Given the description of an element on the screen output the (x, y) to click on. 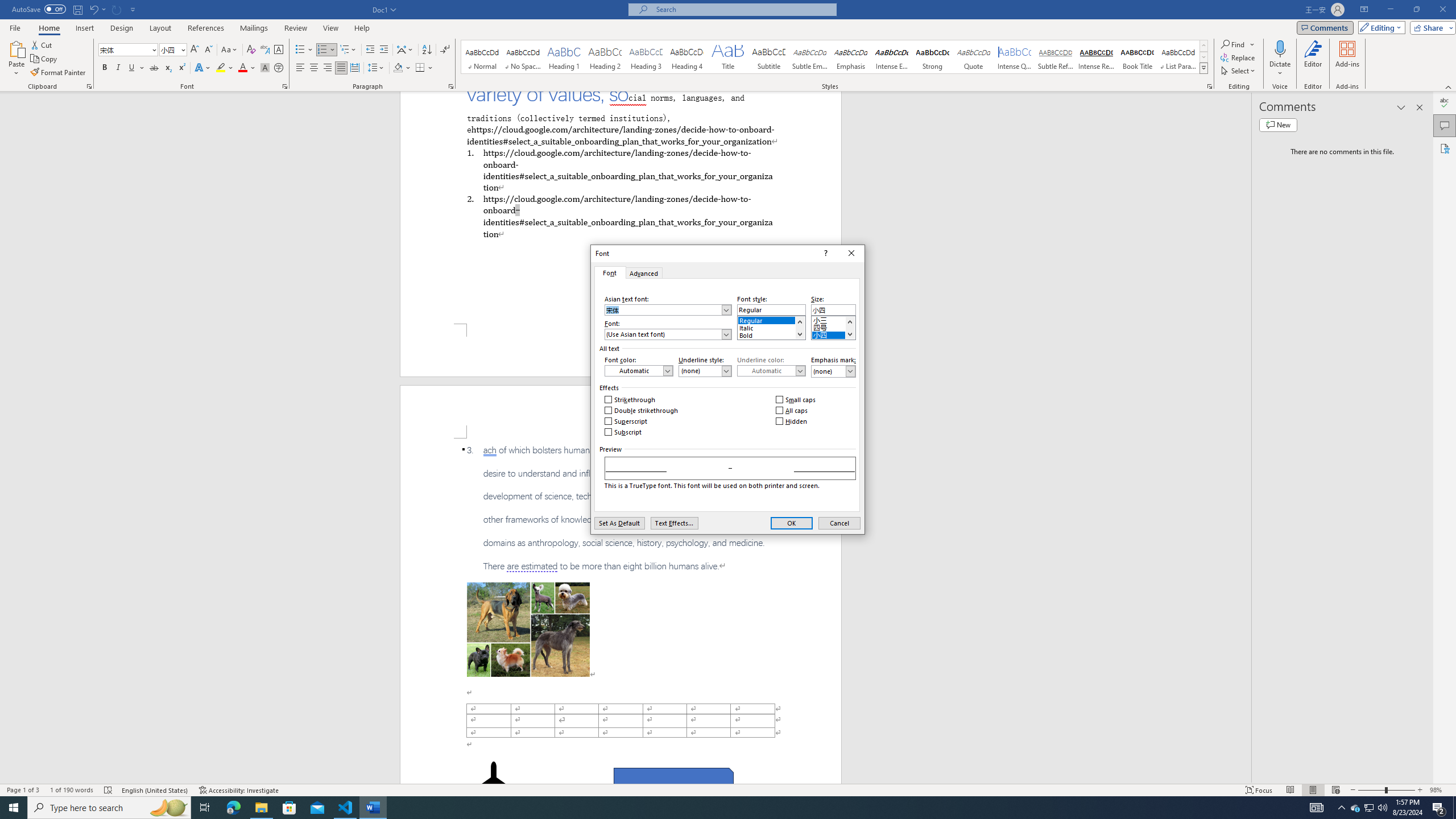
Center (313, 67)
Paragraph... (450, 85)
Heading 4 (686, 56)
Bullets (304, 49)
Language English (United States) (154, 790)
Microsoft Edge (233, 807)
Dictate (1280, 58)
User Promoted Notification Area (1368, 807)
Change Case (229, 49)
Print Layout (1312, 790)
Align Right (327, 67)
Heading 3 (646, 56)
Search highlights icon opens search home window (167, 807)
